Given the description of an element on the screen output the (x, y) to click on. 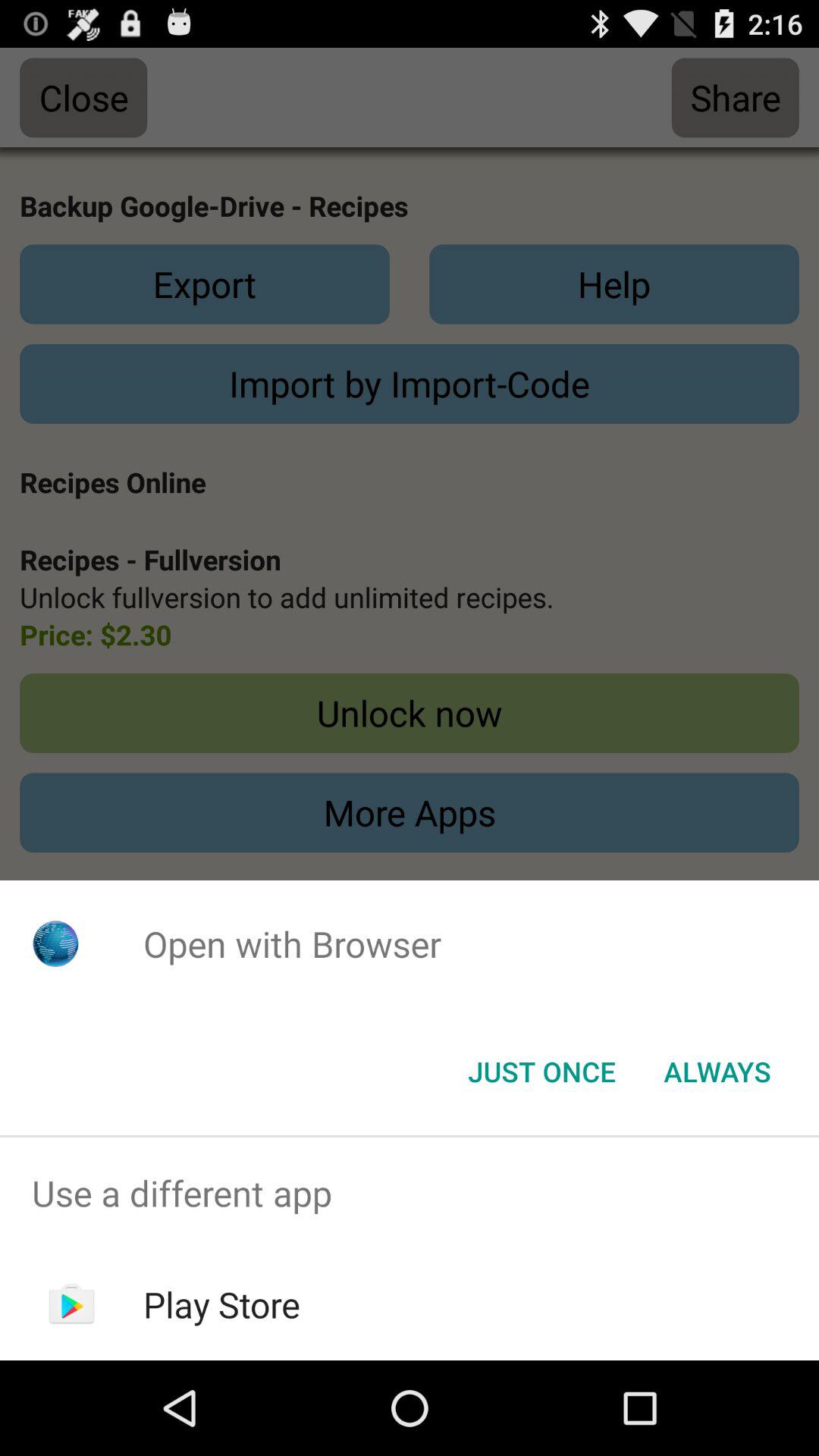
press the app below the open with browser icon (541, 1071)
